Given the description of an element on the screen output the (x, y) to click on. 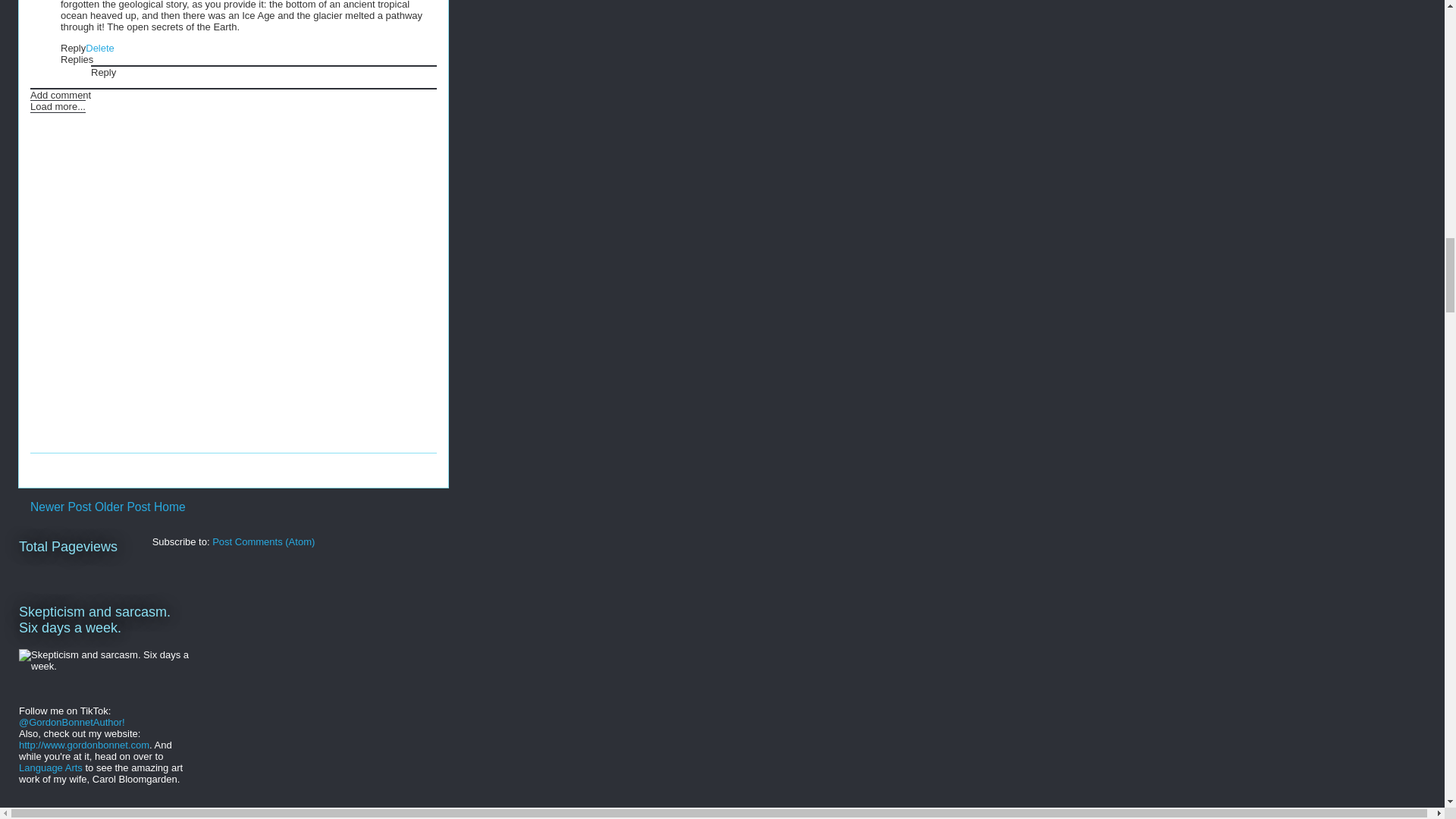
Add comment (60, 94)
Older Post (122, 506)
Load more... (57, 106)
Newer Post (60, 506)
Newer Post (60, 506)
Reply (103, 71)
Older Post (122, 506)
Replies (77, 59)
Home (170, 506)
Reply (73, 48)
Delete (100, 48)
